Given the description of an element on the screen output the (x, y) to click on. 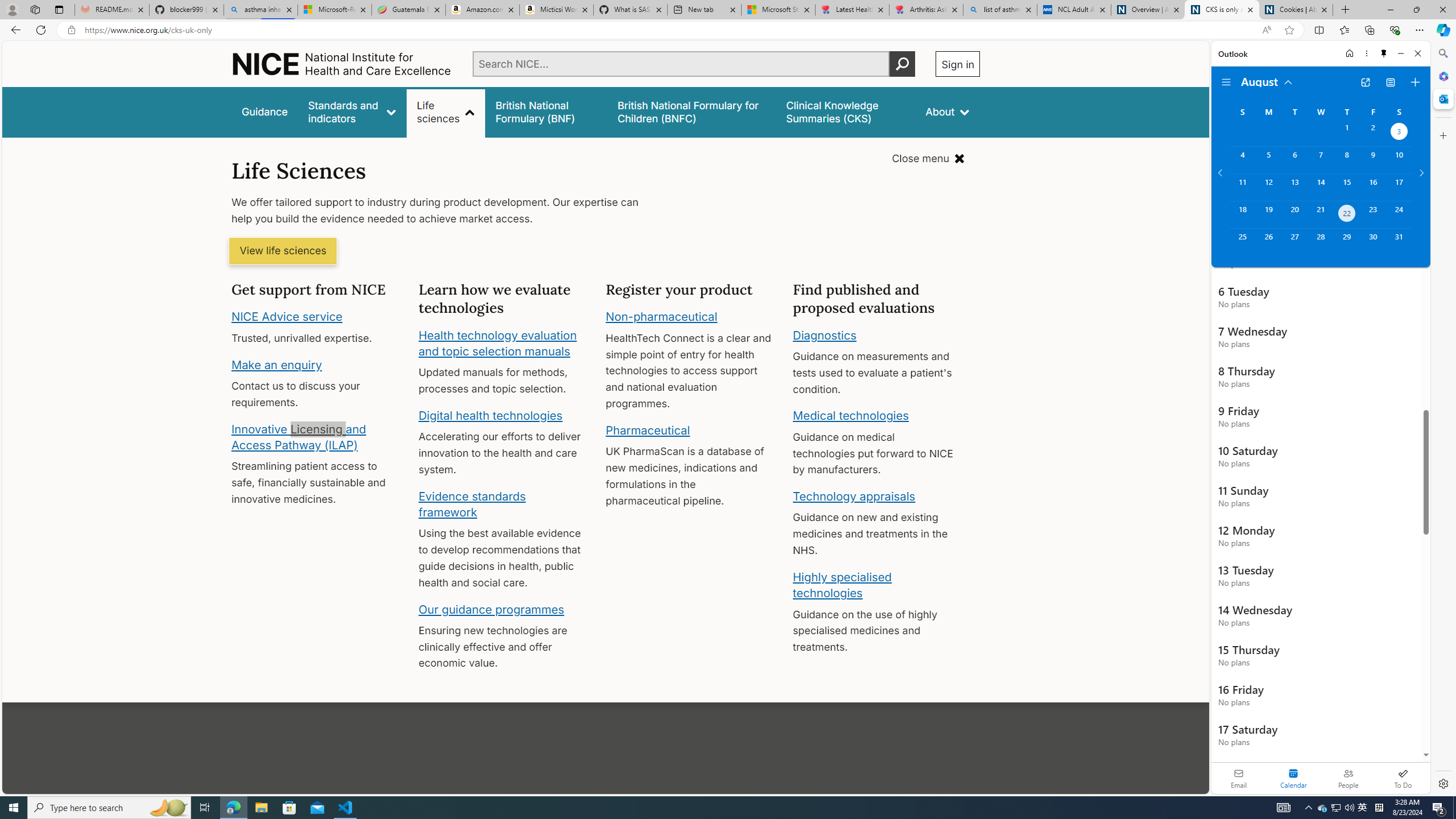
Tuesday, August 27, 2024.  (1294, 241)
Sunday, August 4, 2024.  (1242, 159)
Friday, August 2, 2024.  (1372, 132)
Evidence standards framework (471, 503)
August (1267, 80)
Friday, August 9, 2024.  (1372, 159)
Arthritis: Ask Health Professionals (925, 9)
Selected calendar module. Date today is 22 (1293, 777)
